Given the description of an element on the screen output the (x, y) to click on. 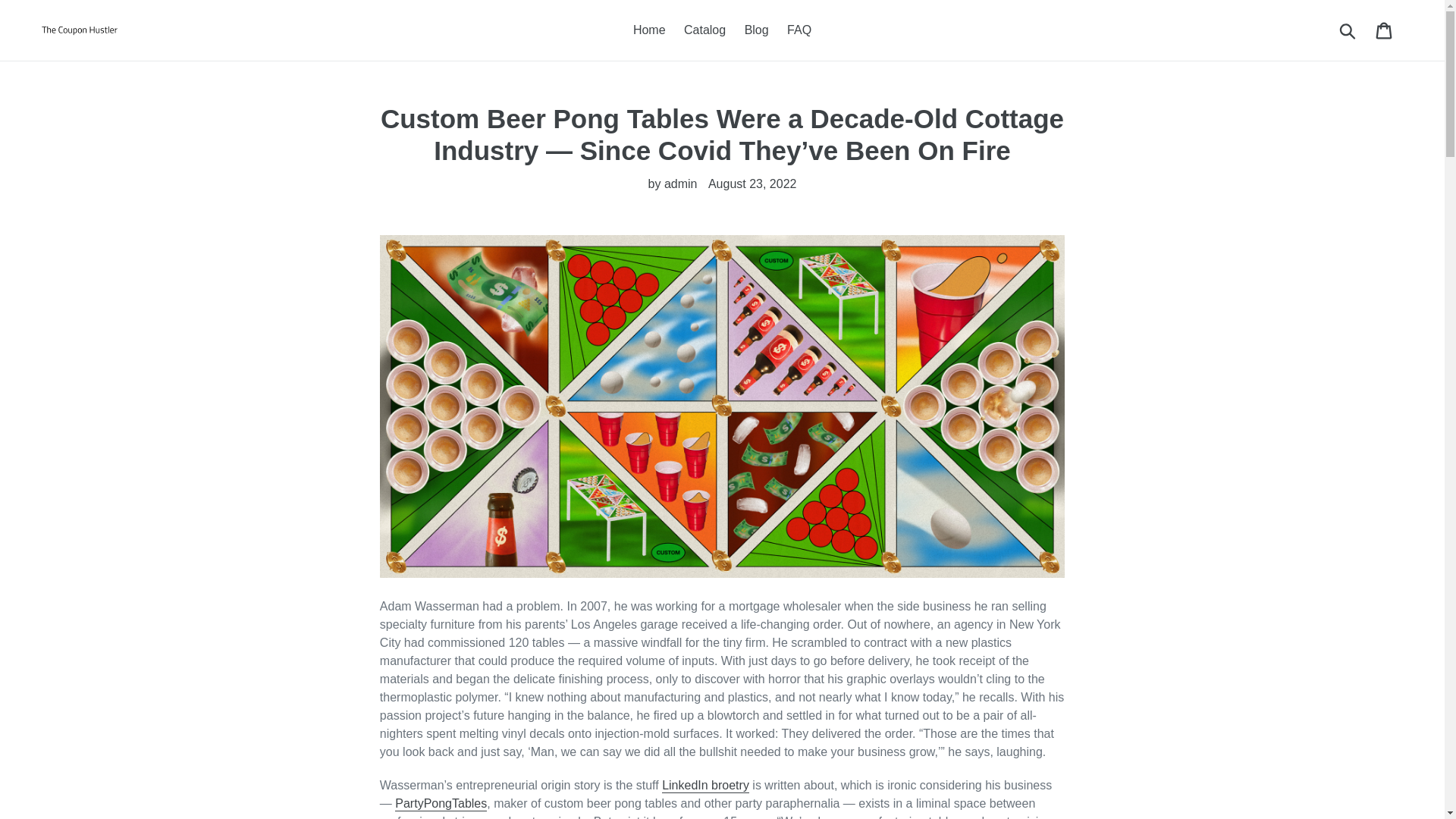
Submit (1348, 29)
Cart (1385, 29)
PartyPongTables (440, 803)
Blog (756, 29)
Home (649, 29)
LinkedIn broetry (705, 785)
Catalog (705, 29)
FAQ (798, 29)
